Given the description of an element on the screen output the (x, y) to click on. 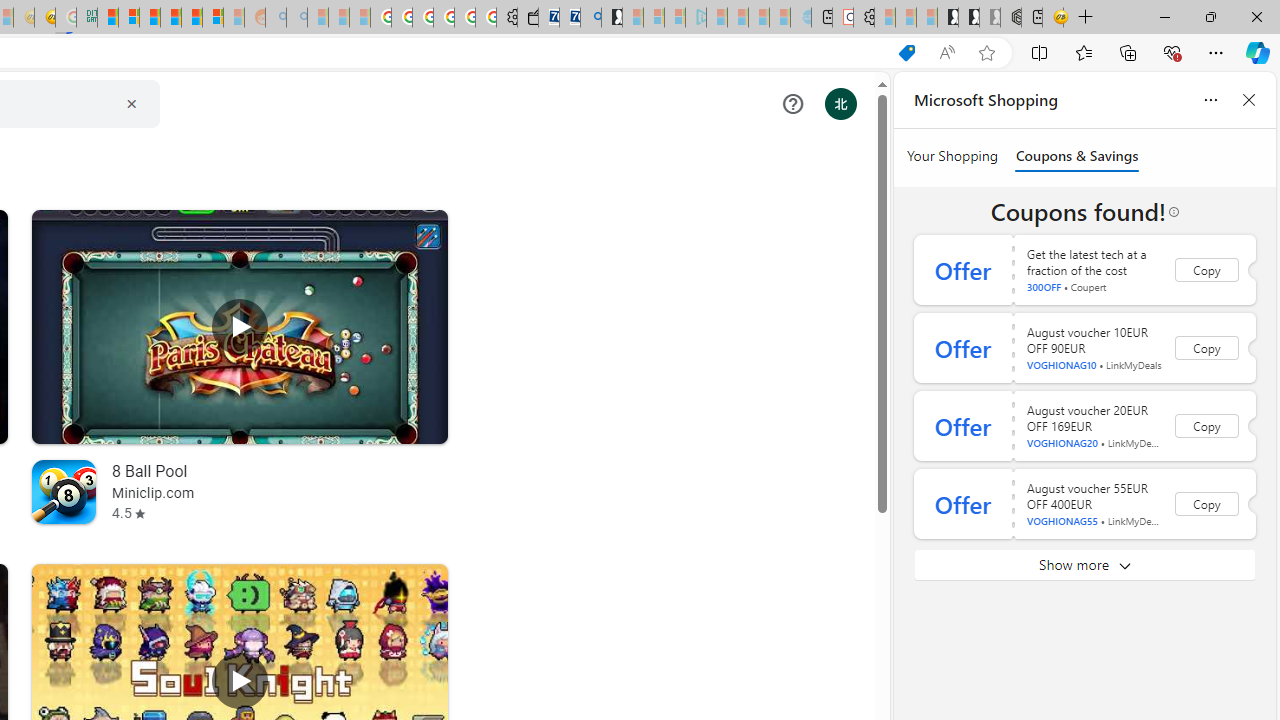
Microsoft Start - Sleeping (758, 17)
Bing Real Estate - Home sales and rental listings (591, 17)
This site has coupons! Shopping in Microsoft Edge (906, 53)
Play 8 Ball Pool (239, 326)
Settings and more (Alt+F) (1215, 52)
MSNBC - MSN (107, 17)
Wallet (527, 17)
